Given the description of an element on the screen output the (x, y) to click on. 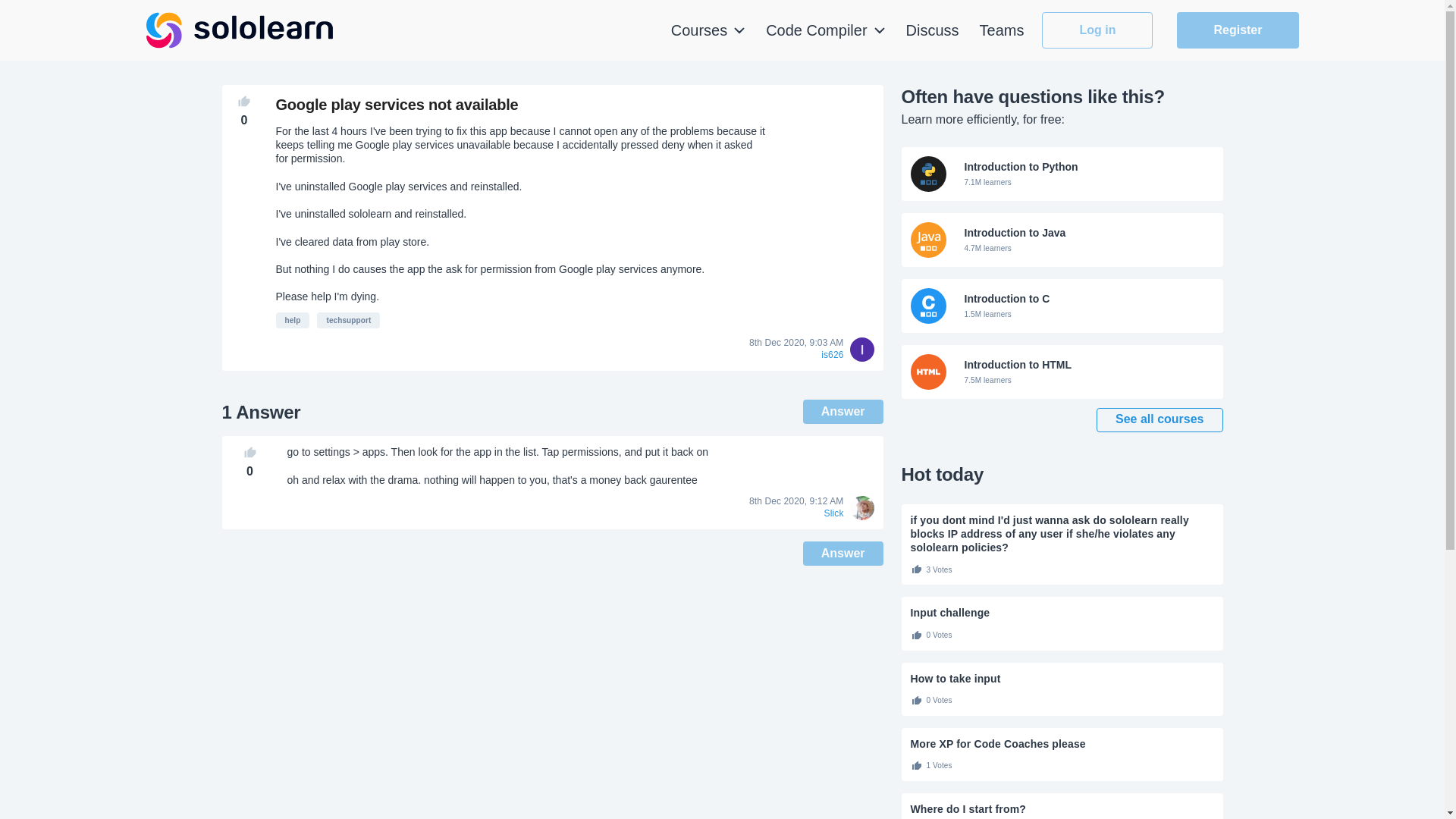
Introduction to HTML (1062, 371)
Register (1237, 30)
help (1062, 371)
techsupport (293, 320)
Courses (348, 320)
How to take input (708, 29)
Introduction to C (1061, 678)
Answer (1062, 305)
Input challenge (843, 553)
Introduction to Java (1061, 612)
Code Compiler (1062, 173)
Answer (1062, 239)
